Given the description of an element on the screen output the (x, y) to click on. 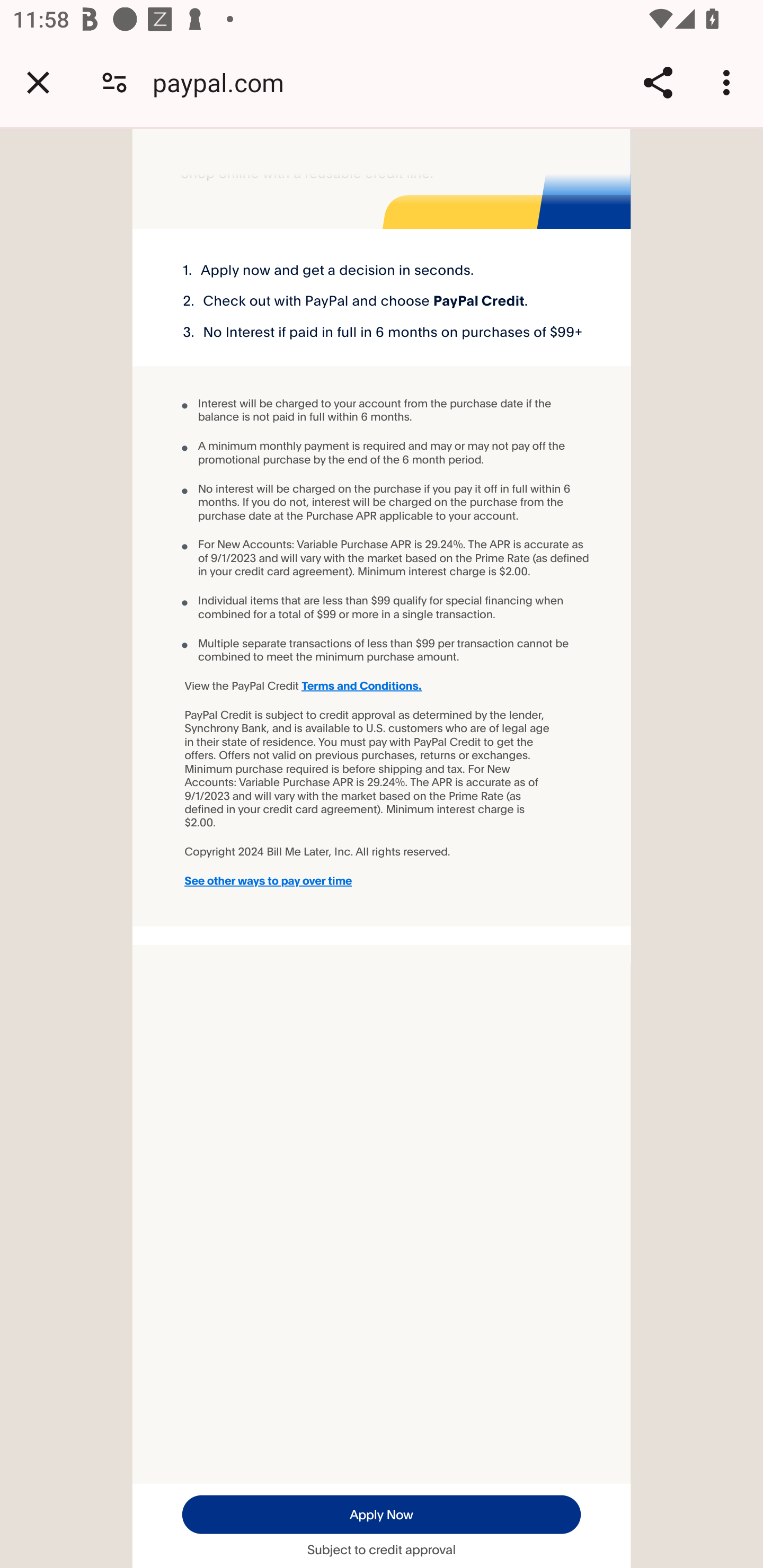
Close tab (38, 82)
Share (657, 82)
Customize and control Google Chrome (729, 82)
Connection is secure (114, 81)
paypal.com (224, 81)
See other ways to pay over time (306, 880)
Apply Now (380, 1513)
